Given the description of an element on the screen output the (x, y) to click on. 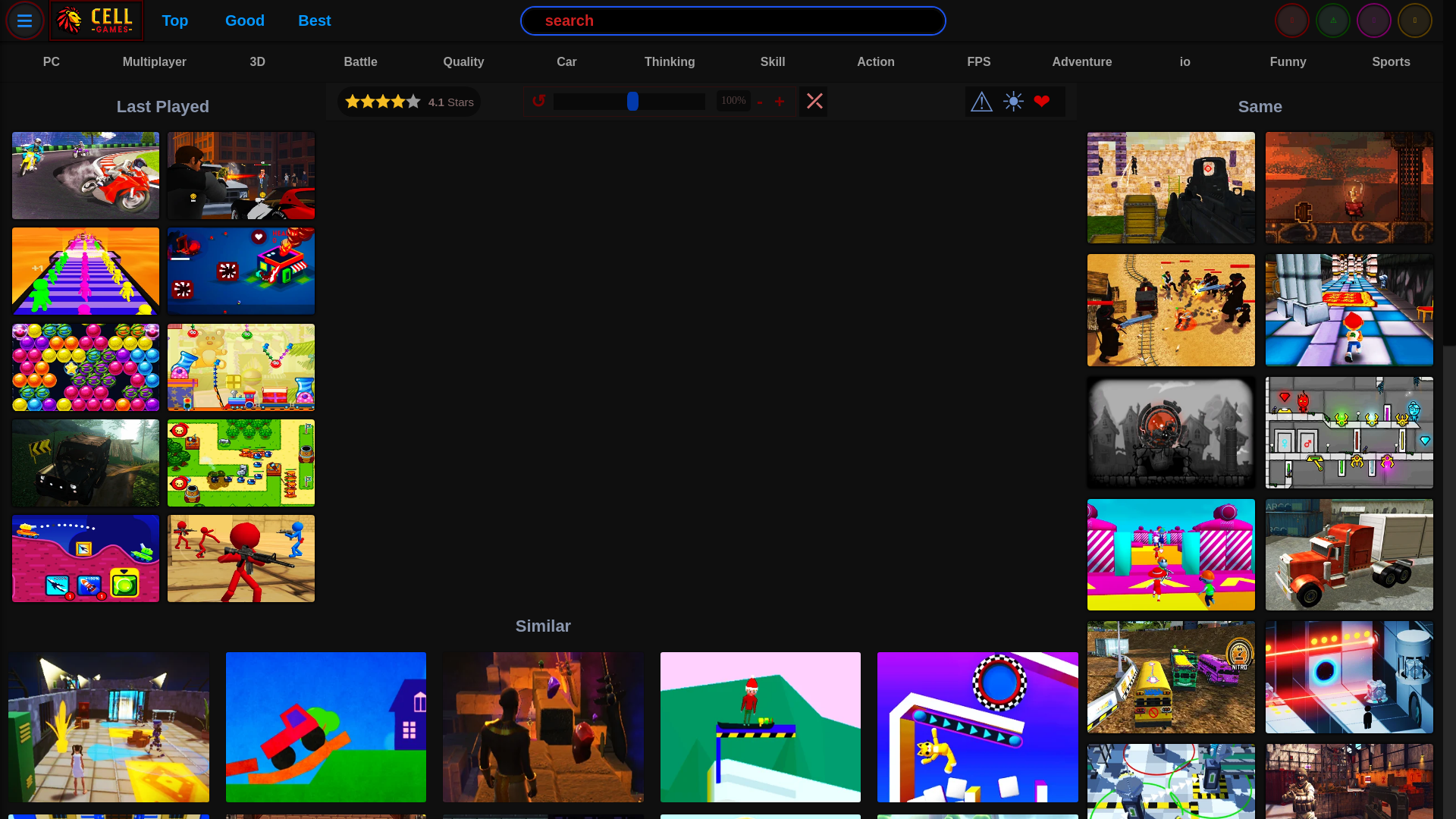
Top (174, 20)
Fullscreen (813, 101)
100 (628, 101)
Good (244, 20)
search (733, 20)
Best (314, 20)
Turn off the lights (1011, 101)
reset size (540, 101)
increase size (781, 101)
Report the error, let's fix it. (981, 101)
